Given the description of an element on the screen output the (x, y) to click on. 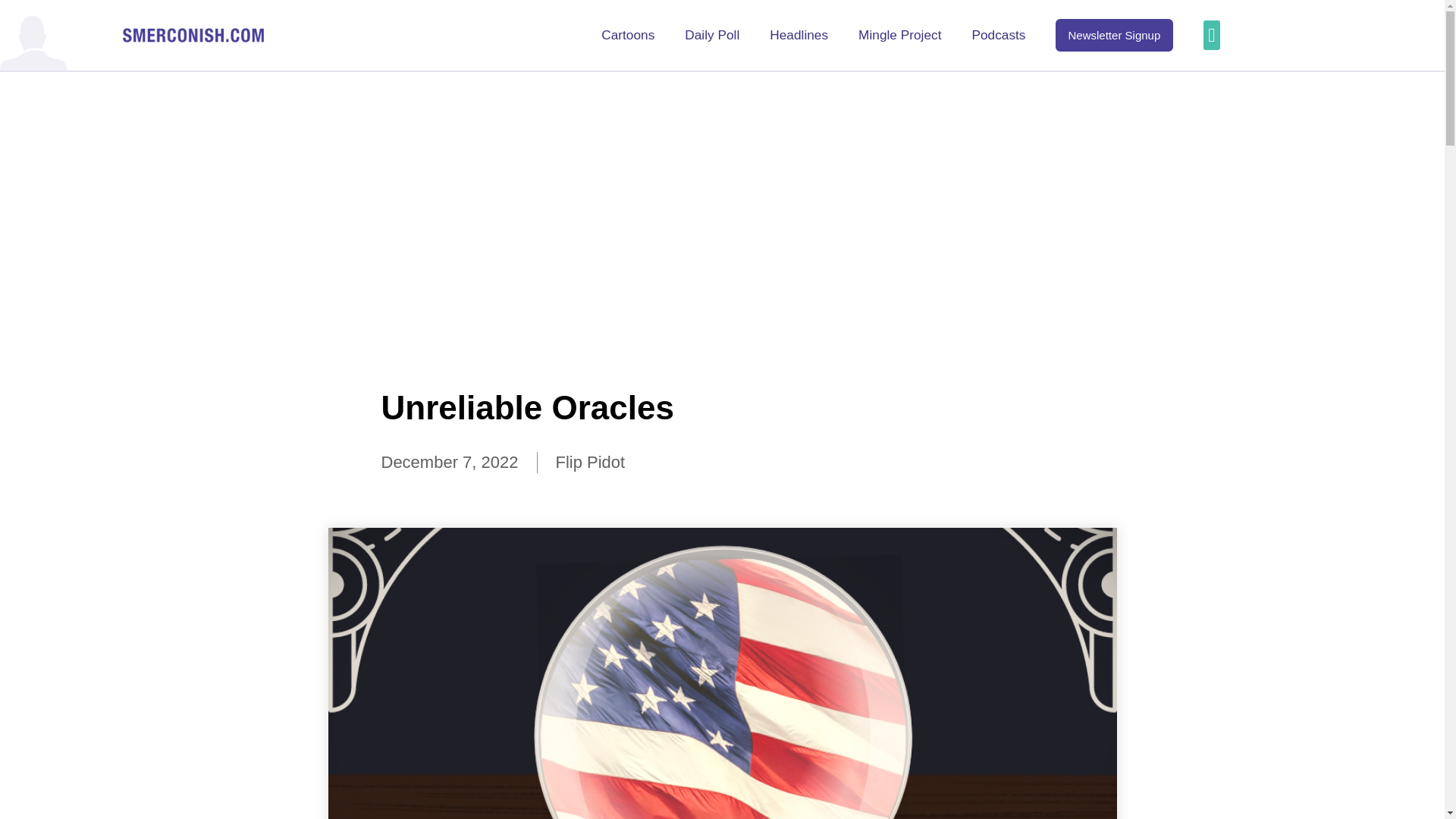
Daily Poll (711, 35)
Mingle Project (899, 35)
Headlines (799, 35)
Podcasts (998, 35)
Cartoons (627, 35)
